Given the description of an element on the screen output the (x, y) to click on. 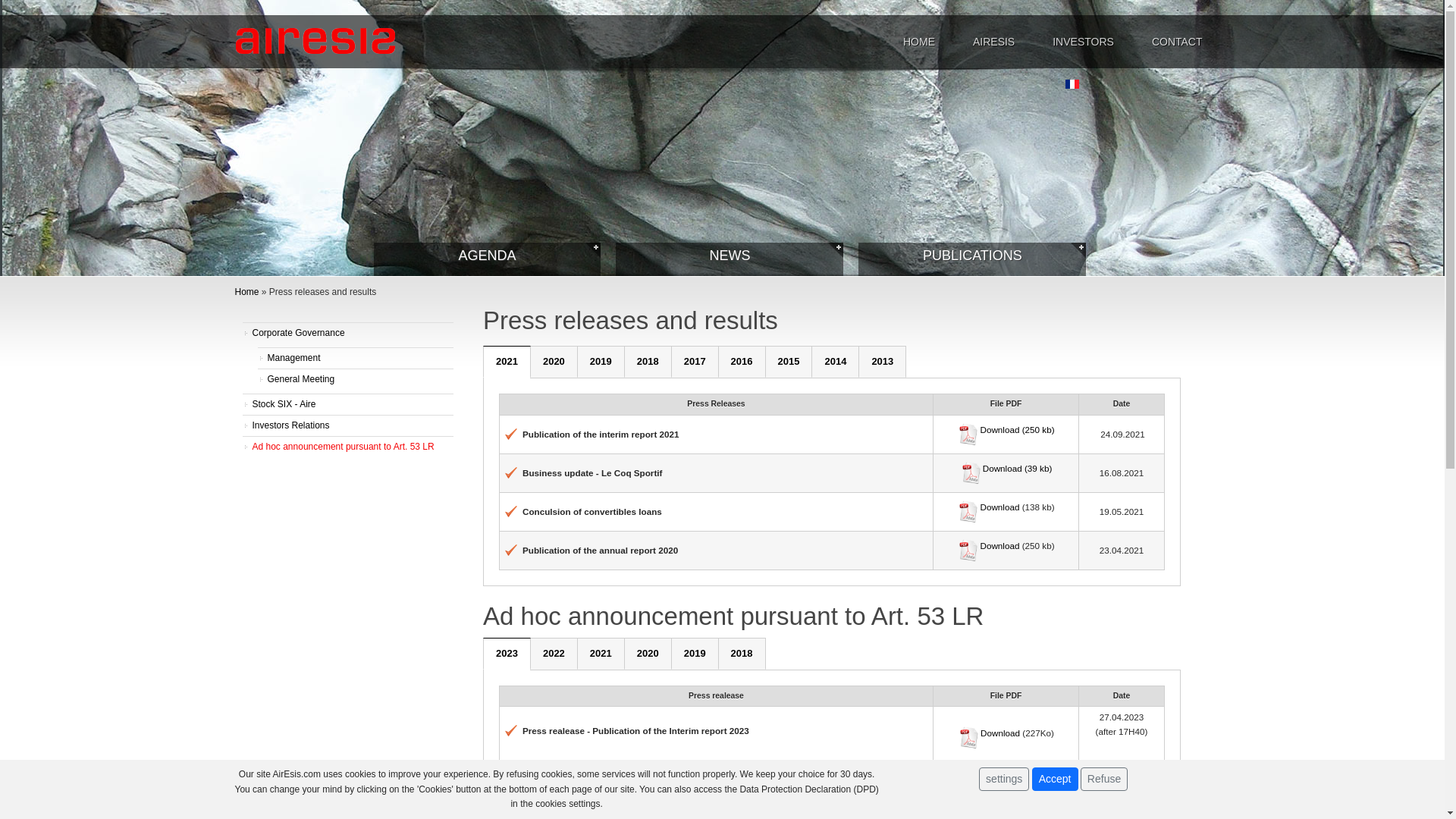
2019 Element type: text (600, 361)
Download Element type: text (999, 506)
French Element type: hover (1071, 83)
2016 Element type: text (741, 361)
2019 Element type: text (694, 653)
CONTACT Element type: text (1177, 41)
Download (39 kb) Element type: text (1017, 468)
Home Element type: text (247, 291)
Download Element type: text (988, 732)
HOME Element type: text (918, 41)
AIRESIS Element type: text (993, 41)
2022 Element type: text (553, 653)
Accept Element type: text (1055, 778)
2014 Element type: text (835, 361)
Investors Relations Element type: text (348, 425)
settings Element type: text (1004, 778)
Ad hoc announcement pursuant to Art. 53 LR Element type: text (348, 446)
2023 Element type: text (506, 653)
2018 Element type: text (741, 653)
2018 Element type: text (647, 361)
Stock SIX - Aire Element type: text (348, 403)
Corporate Governance Element type: text (348, 332)
Download (521 Mo) Element type: text (1016, 795)
2013 Element type: text (882, 361)
Download (250 kb) Element type: text (1016, 429)
2020 Element type: text (553, 361)
Download  Element type: text (1000, 545)
2015 Element type: text (788, 361)
2021 Element type: text (506, 361)
Management Element type: text (355, 357)
Refuse Element type: text (1103, 778)
2020 Element type: text (647, 653)
2017 Element type: text (694, 361)
INVESTORS Element type: text (1082, 41)
General Meeting Element type: text (355, 378)
2021 Element type: text (600, 653)
